Given the description of an element on the screen output the (x, y) to click on. 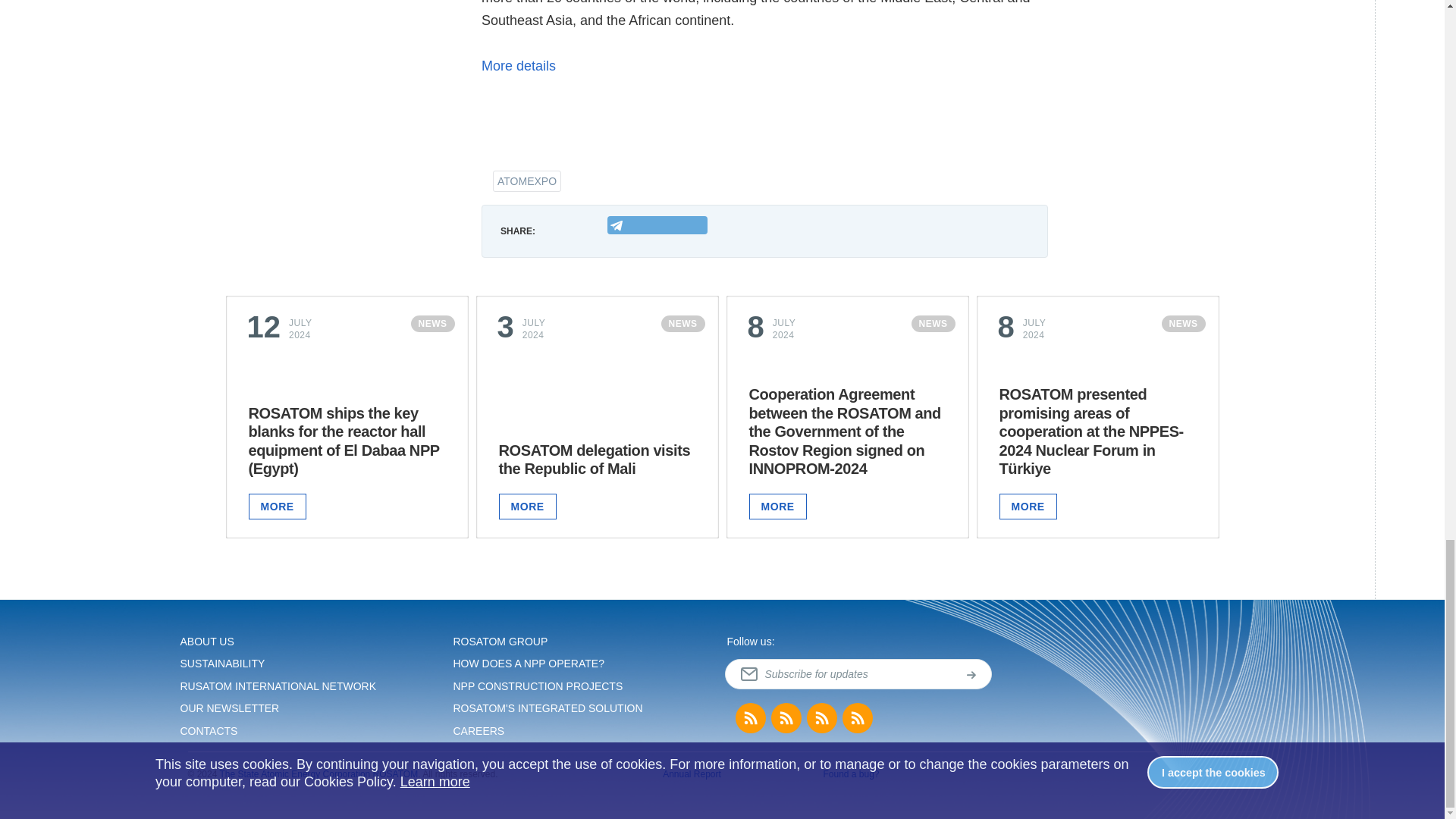
Nuclear Industry in the Media (785, 717)
Atom: Nuclear Industry in the Media (856, 717)
Atom: News (821, 717)
News (750, 717)
Telegram (656, 225)
